Given the description of an element on the screen output the (x, y) to click on. 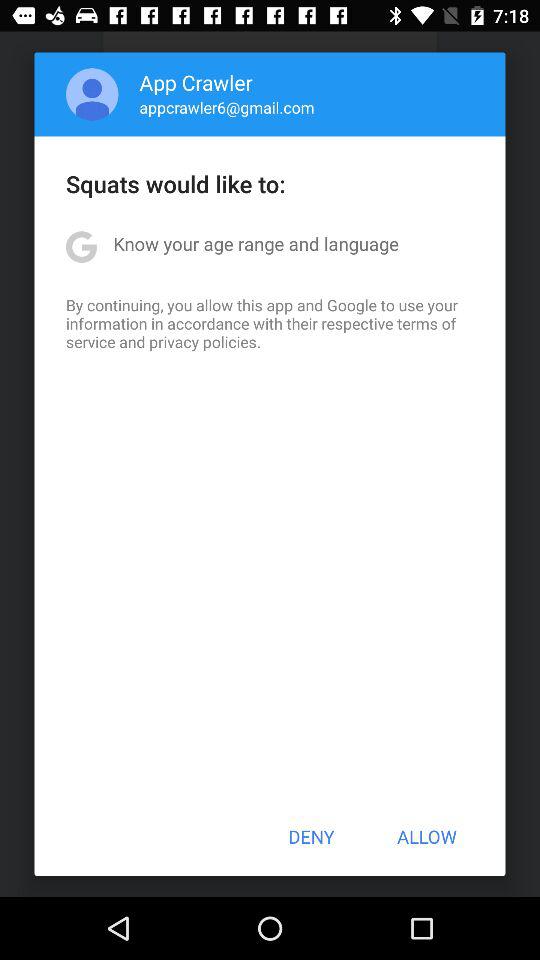
flip to the know your age (255, 243)
